Given the description of an element on the screen output the (x, y) to click on. 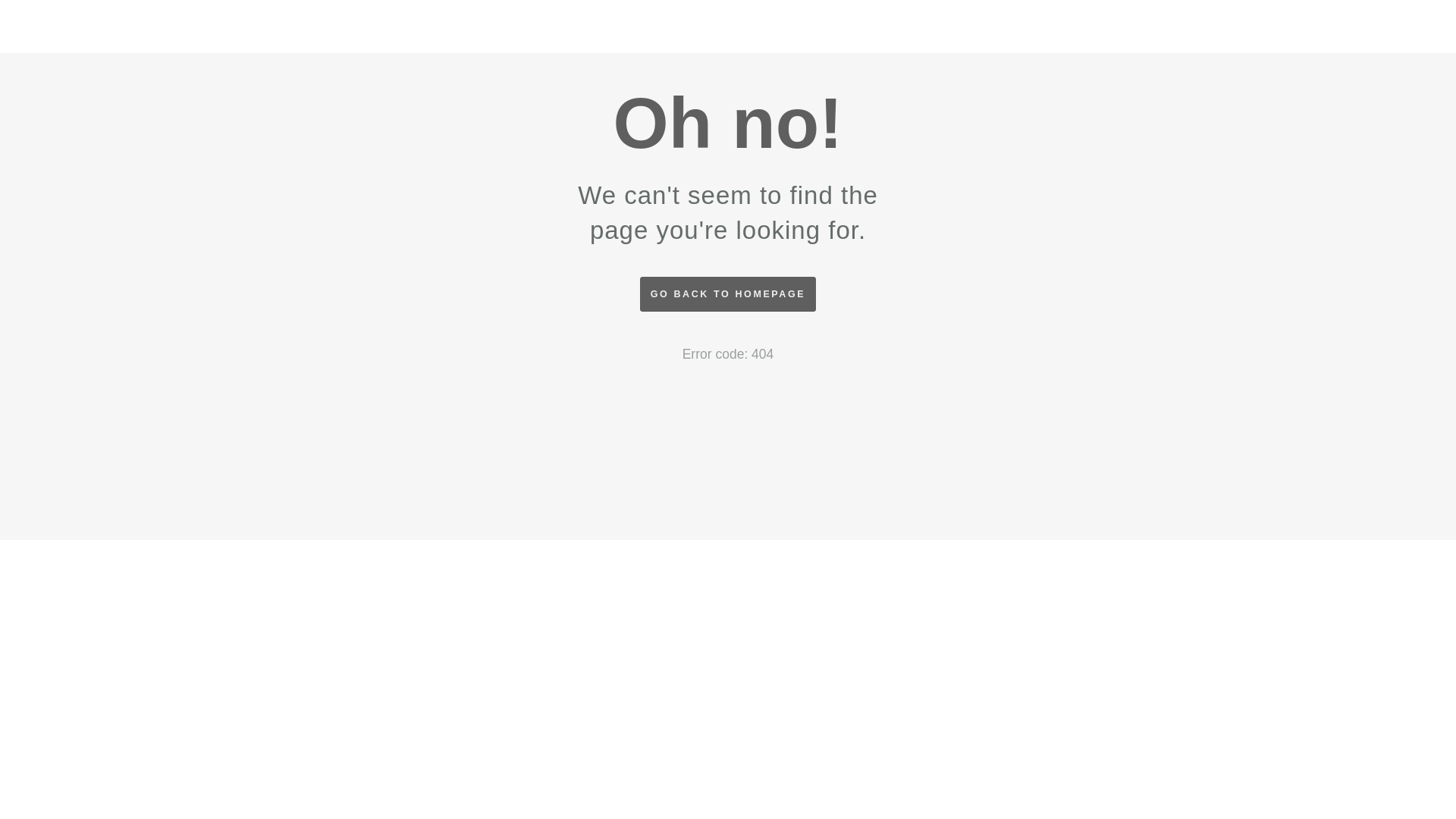
GO BACK TO HOMEPAGE (727, 294)
